Given the description of an element on the screen output the (x, y) to click on. 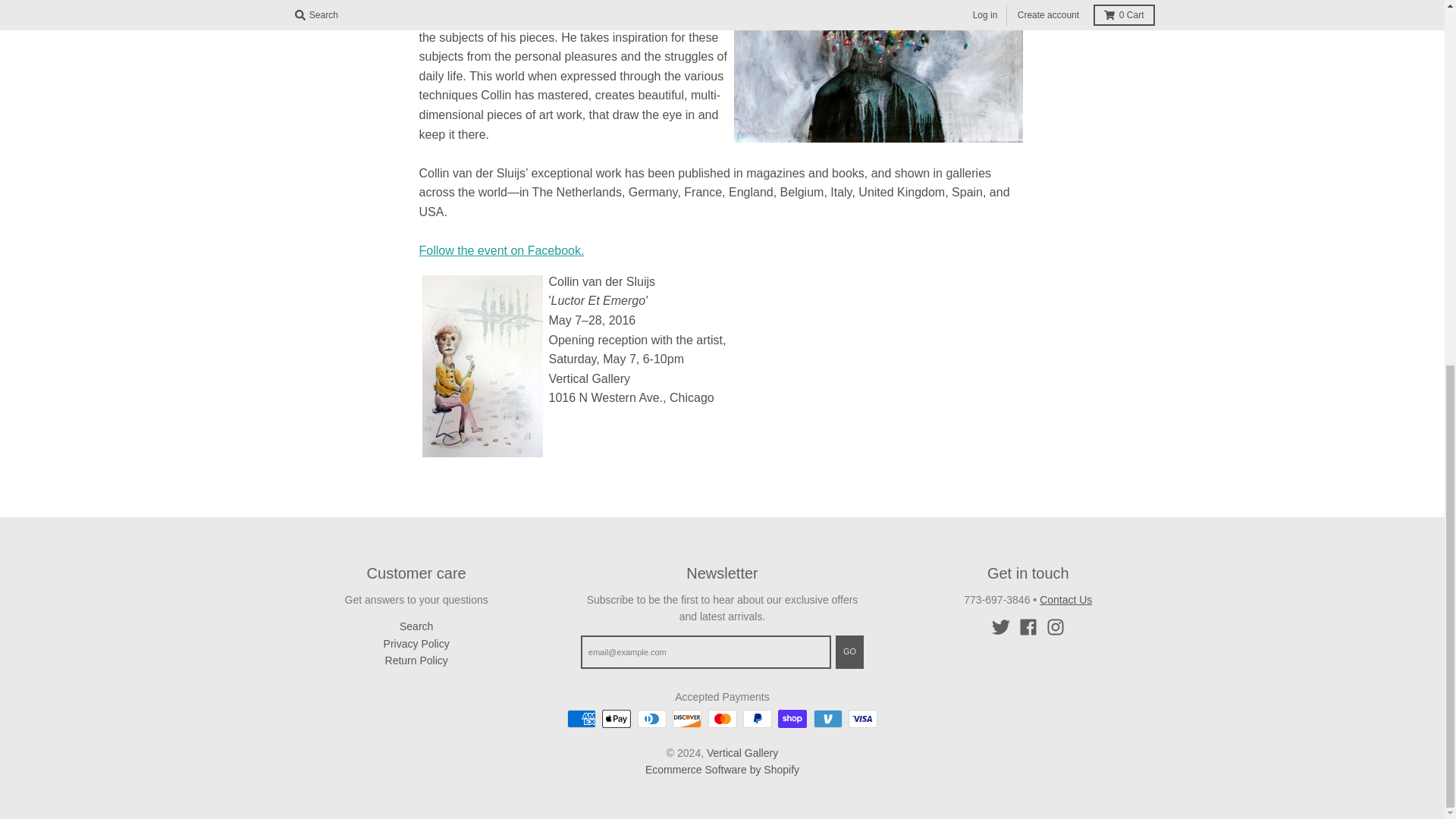
Twitter - Vertical Gallery (1000, 627)
Instagram - Vertical Gallery (1055, 627)
Facebook - Vertical Gallery (1027, 627)
